Given the description of an element on the screen output the (x, y) to click on. 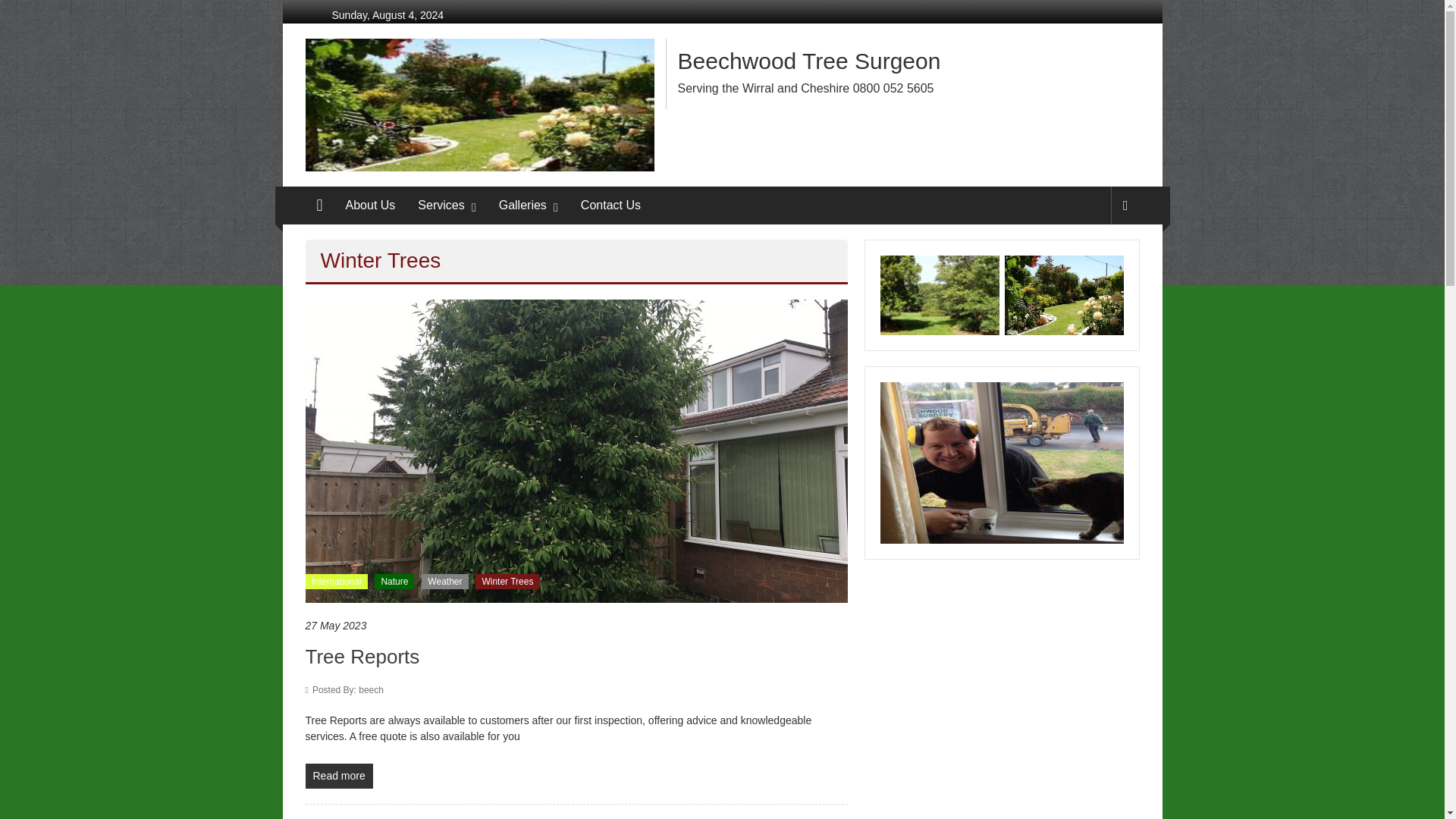
Tree Reports (575, 450)
Read more (338, 775)
Contact Us (610, 205)
Beechwood Tree Surgeon (809, 60)
Winter Trees (507, 581)
Nature (393, 581)
About Us (371, 205)
Posted By: beech (348, 689)
Tree Reports (361, 656)
27 May 2023 (575, 625)
Tree Reports (361, 656)
Beechwood Tree Surgeon (318, 205)
08:05 (575, 625)
Galleries (523, 205)
Services (440, 205)
